Given the description of an element on the screen output the (x, y) to click on. 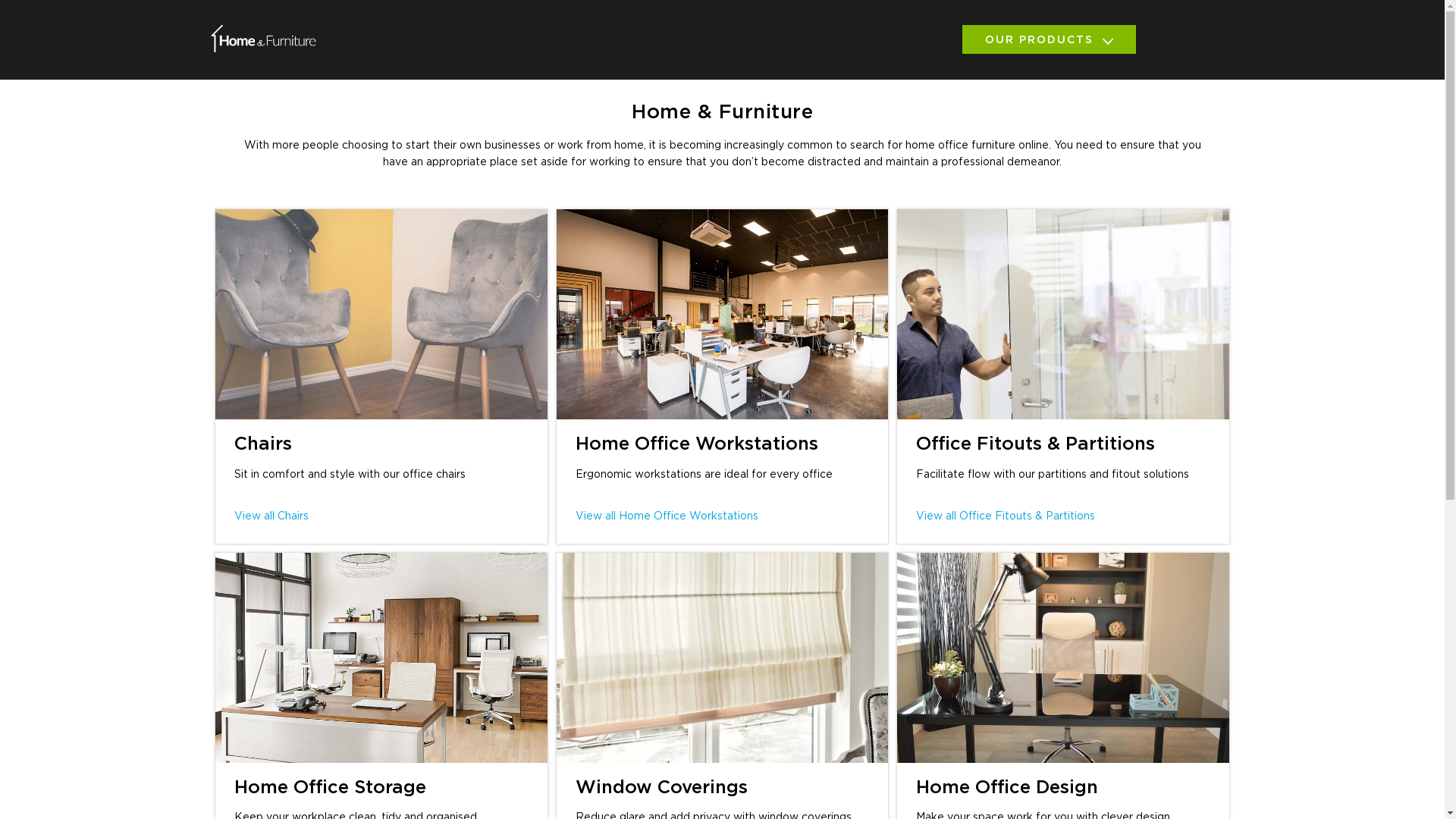
Office Fitouts & Partitions Element type: text (1035, 444)
Home Office Storage Element type: text (330, 787)
View all Chairs Element type: text (271, 516)
View all Home Office Workstations Element type: text (665, 516)
Chairs Element type: text (262, 444)
OUR PRODUCTS Element type: text (1048, 39)
Home Office Design Element type: text (1007, 787)
Window Coverings Element type: text (660, 787)
View all Office Fitouts & Partitions Element type: text (1005, 516)
Home Office Workstations Element type: text (695, 444)
